Given the description of an element on the screen output the (x, y) to click on. 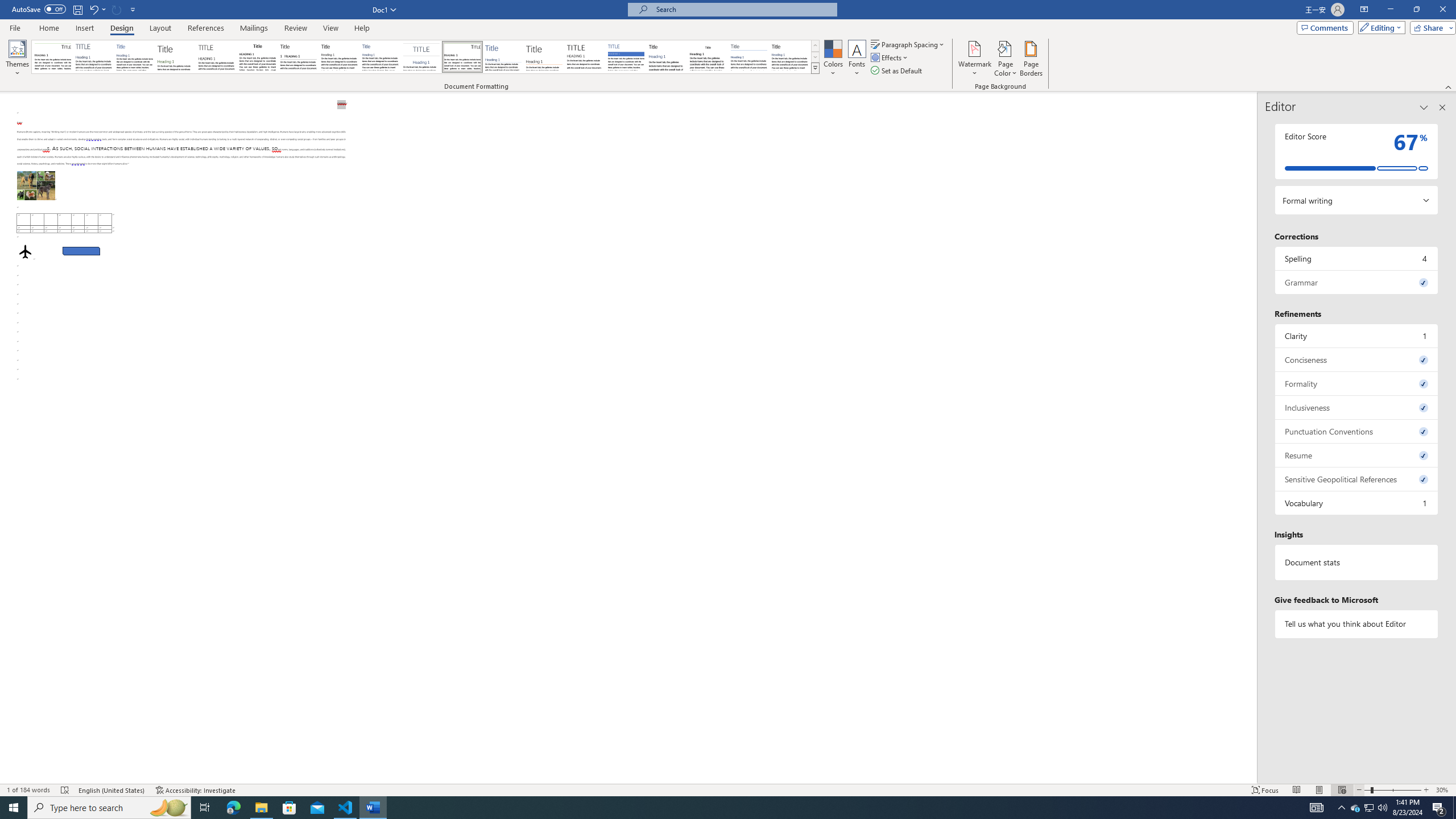
System (6, 6)
Zoom Out (1367, 790)
Style Set (814, 67)
Language English (United States) (111, 790)
Zoom (1392, 790)
Customize Quick Access Toolbar (133, 9)
Paragraph Spacing (908, 44)
Web Layout (1342, 790)
Spelling, 4 issues. Press space or enter to review items. (1356, 258)
Document statistics (1356, 561)
Tell us what you think about Editor (1356, 624)
Black & White (Numbered) (298, 56)
Lines (Distinctive) (462, 56)
Class: NetUIScrollBar (1251, 437)
Colors (832, 58)
